Given the description of an element on the screen output the (x, y) to click on. 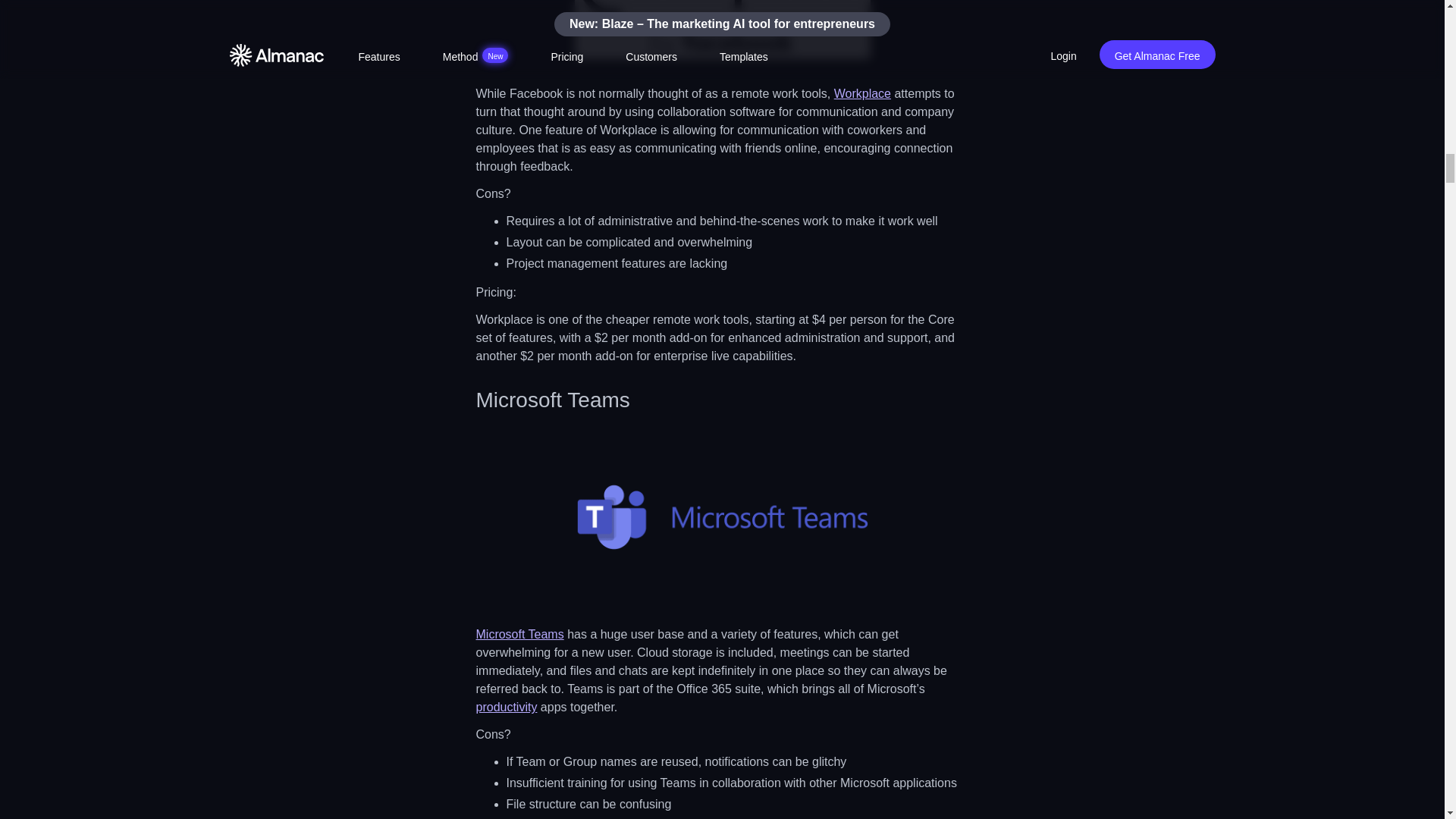
productivity (506, 707)
Microsoft Teams (520, 634)
Workplace (862, 92)
